Given the description of an element on the screen output the (x, y) to click on. 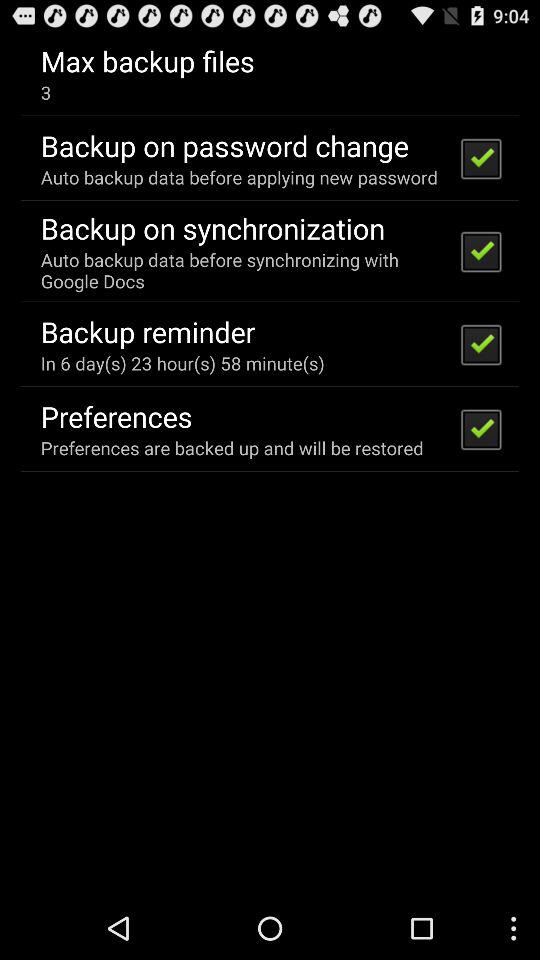
click app above preferences icon (182, 362)
